Given the description of an element on the screen output the (x, y) to click on. 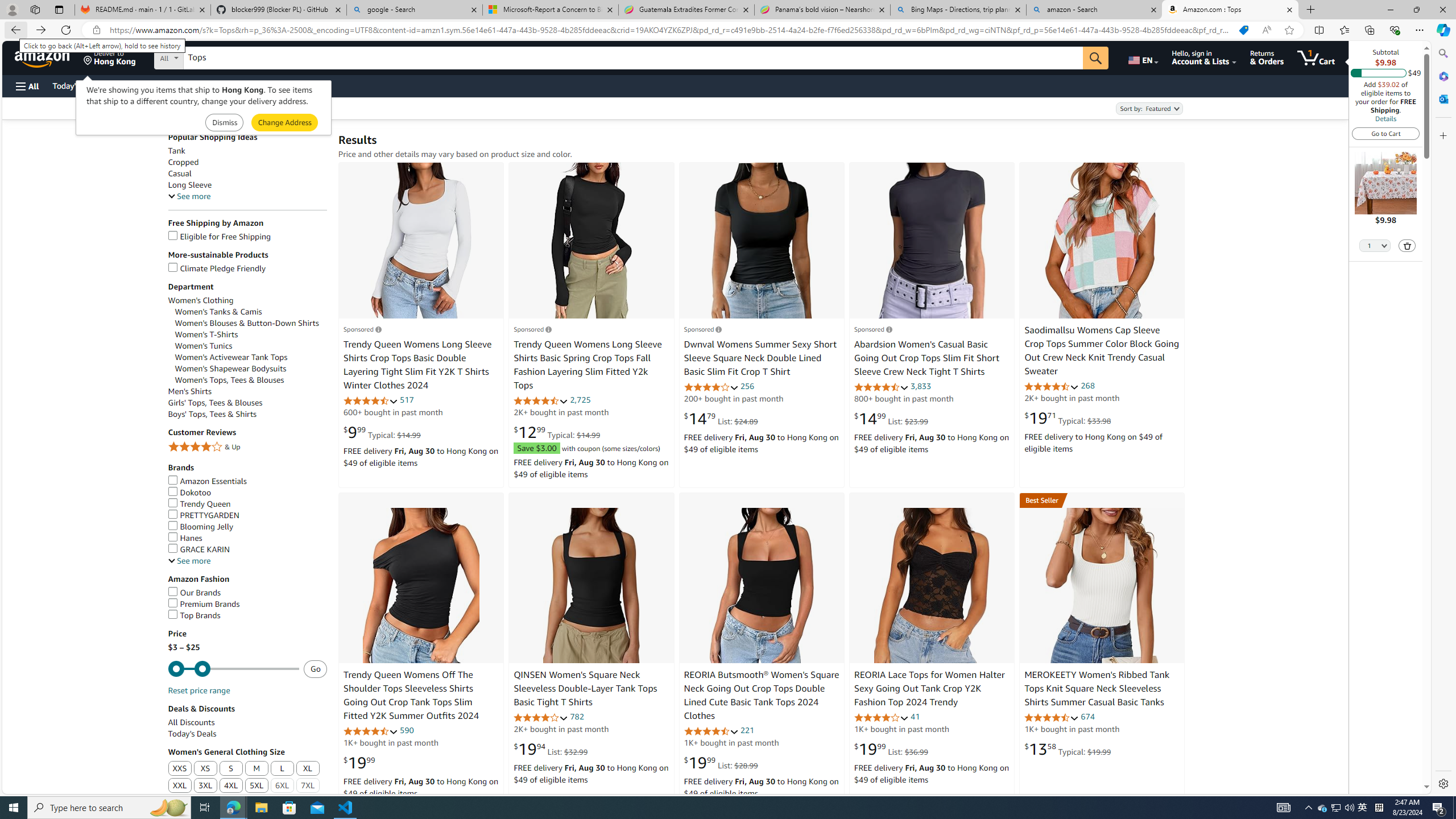
Amazon Essentials (207, 480)
Women's Shapewear Bodysuits (250, 368)
6XL (282, 785)
GRACE KARIN (198, 549)
XL (307, 768)
M (256, 768)
Returns & Orders (1266, 57)
268 (1087, 384)
PRETTYGARDEN (202, 514)
Our Brands (247, 592)
Dokotoo (247, 492)
